Given the description of an element on the screen output the (x, y) to click on. 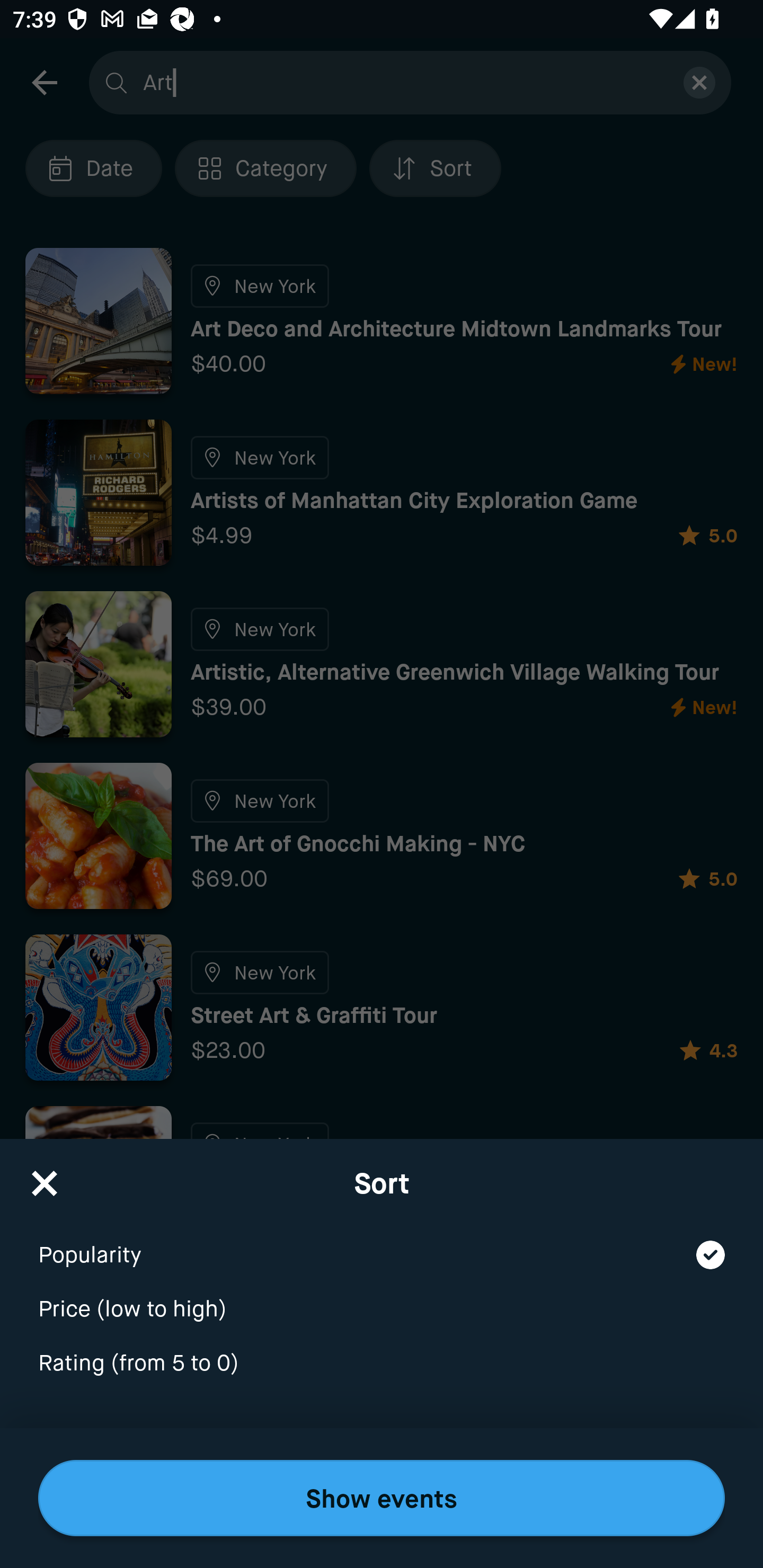
CloseButton (44, 1177)
Popularity Selected Icon (381, 1243)
Price (low to high) (381, 1297)
Rating (from 5 to 0) (381, 1362)
Show events (381, 1497)
